Given the description of an element on the screen output the (x, y) to click on. 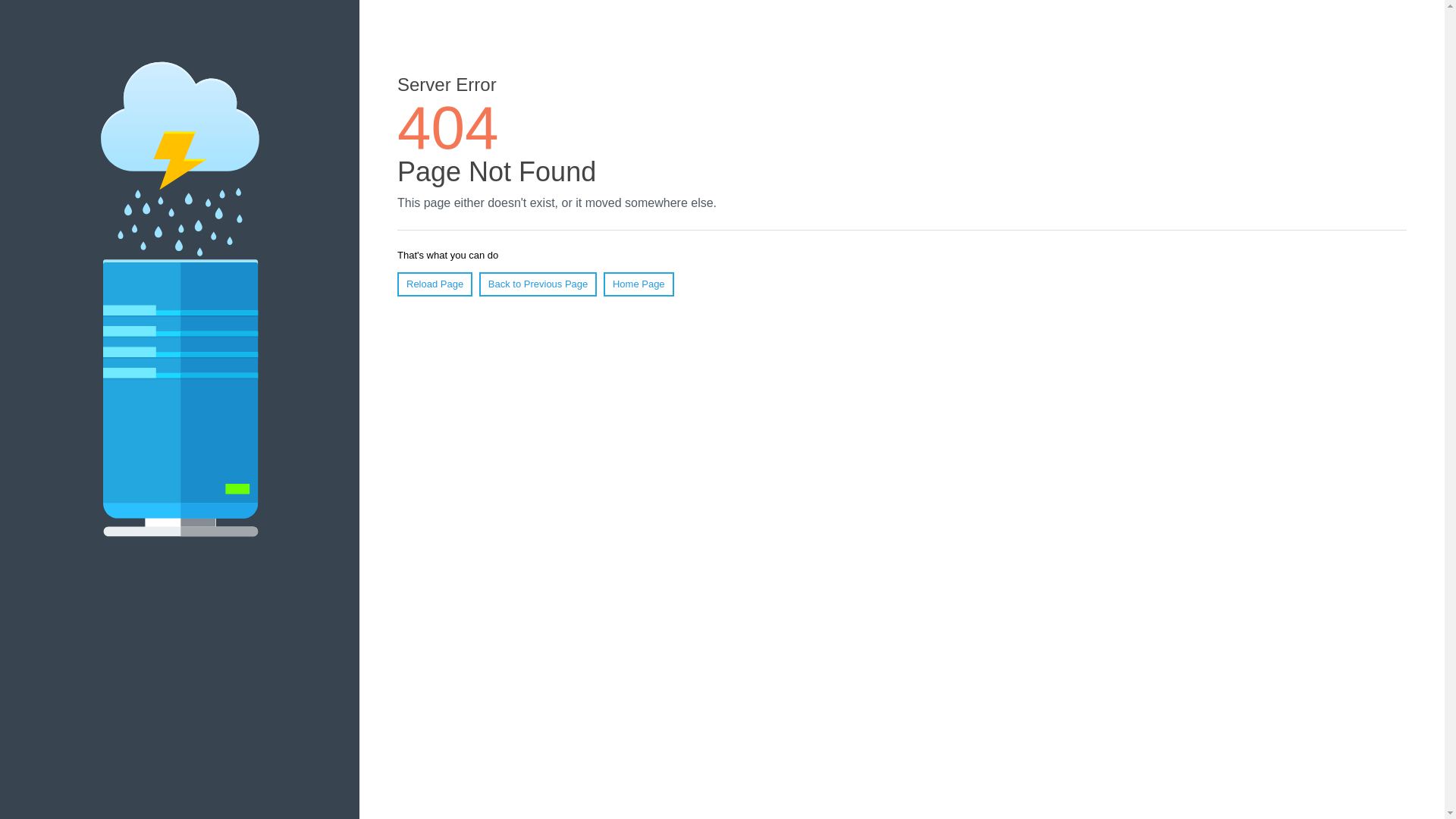
Home Page Element type: text (638, 284)
Back to Previous Page Element type: text (538, 284)
Reload Page Element type: text (434, 284)
